Given the description of an element on the screen output the (x, y) to click on. 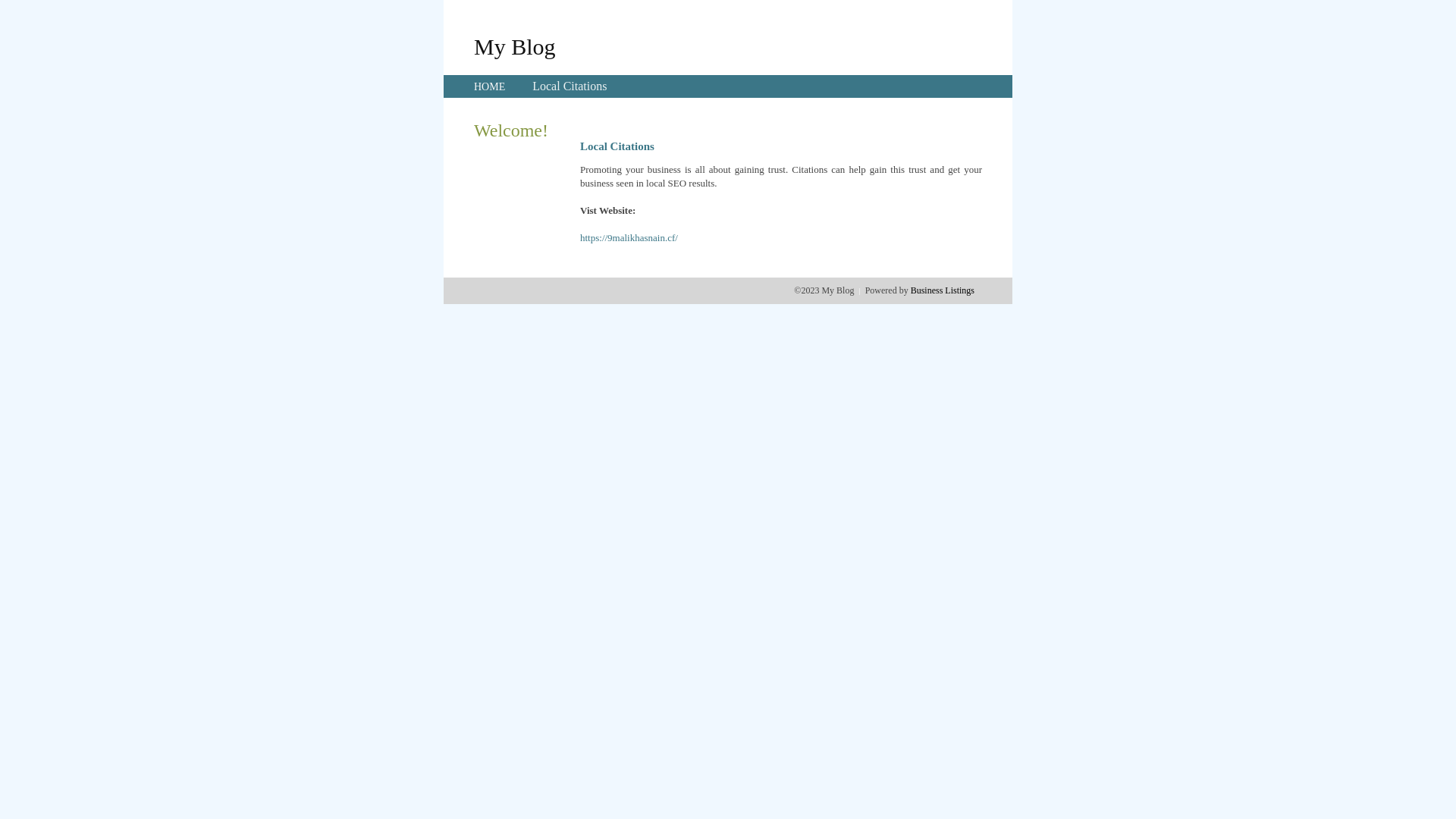
HOME Element type: text (489, 86)
Local Citations Element type: text (569, 85)
https://9malikhasnain.cf/ Element type: text (628, 237)
My Blog Element type: text (514, 46)
Business Listings Element type: text (942, 290)
